Given the description of an element on the screen output the (x, y) to click on. 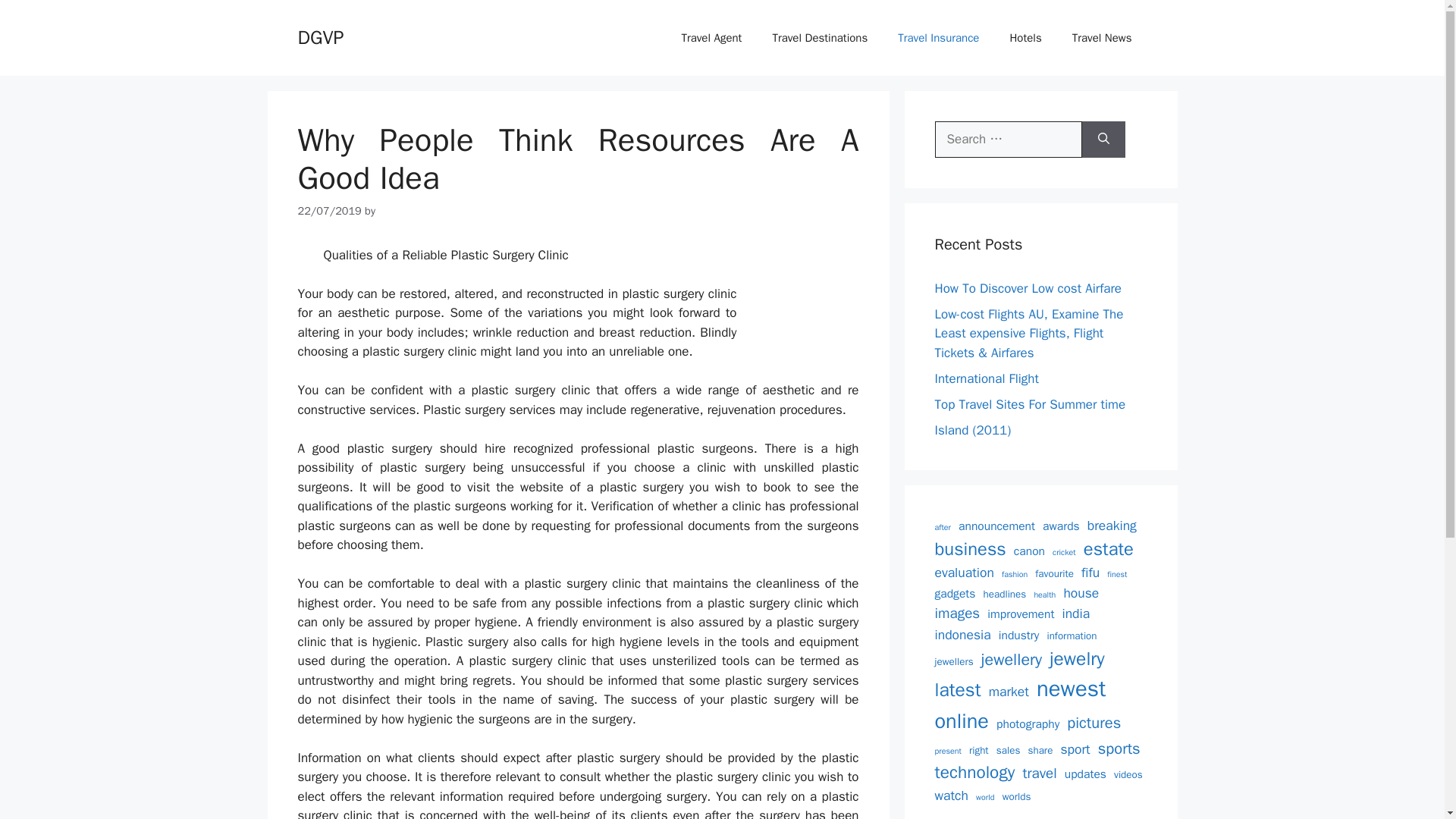
International Flight (986, 377)
Hotels (1025, 37)
Search for: (1007, 139)
health (1044, 594)
cricket (1063, 551)
Top Travel Sites For Summer time (1029, 403)
breaking (1112, 525)
estate (1108, 548)
Travel Destinations (819, 37)
announcement (996, 526)
